Given the description of an element on the screen output the (x, y) to click on. 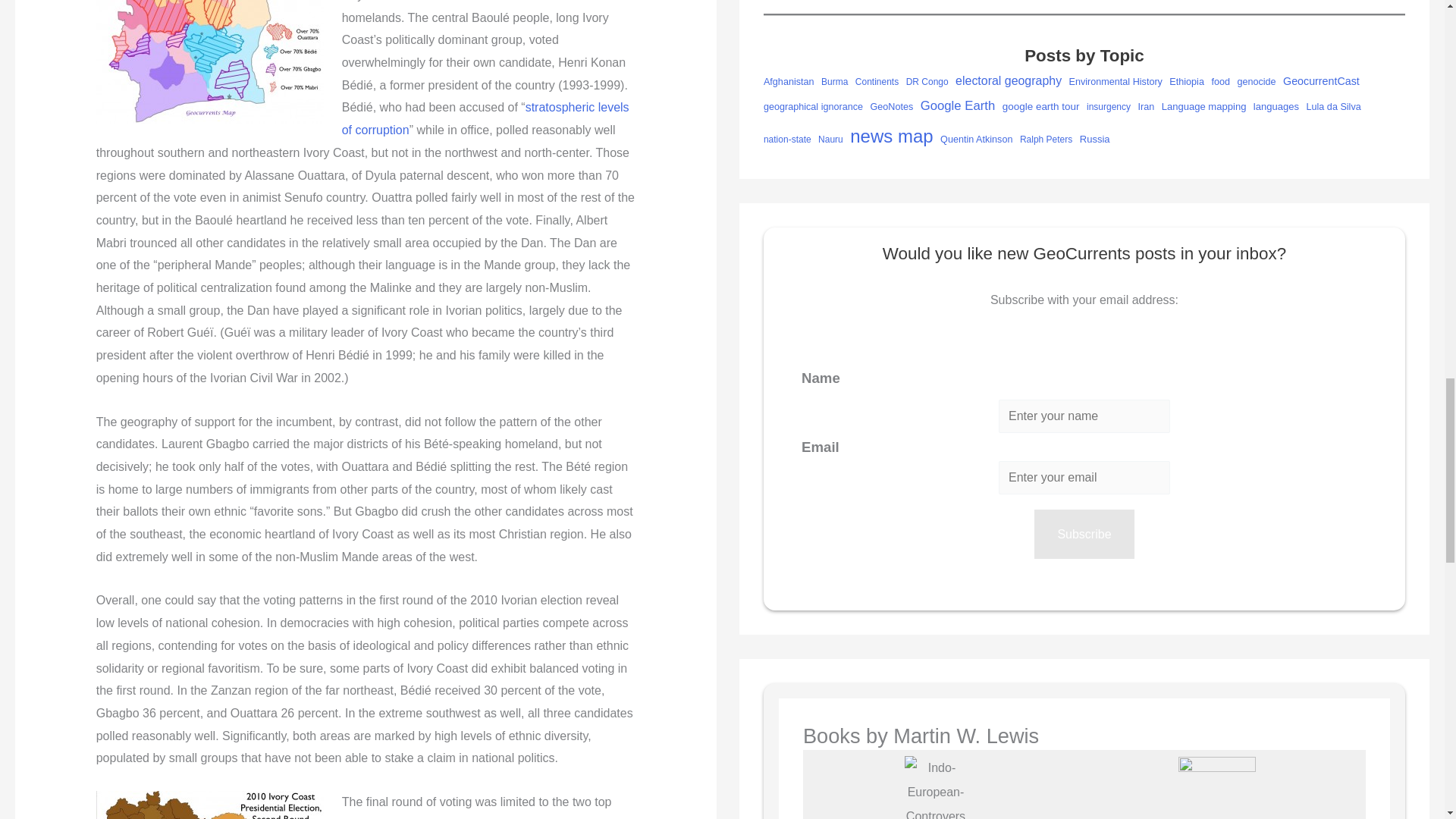
Indo-European-Controversy by Asya Pereltsvaig Martin Lewis (935, 787)
Ivory-Coast-election2-map (209, 805)
diversity amid globalization martin lewis (1216, 787)
Ivory-Coast-Election-Ethnic-map (209, 61)
Subscribe (1083, 534)
